Given the description of an element on the screen output the (x, y) to click on. 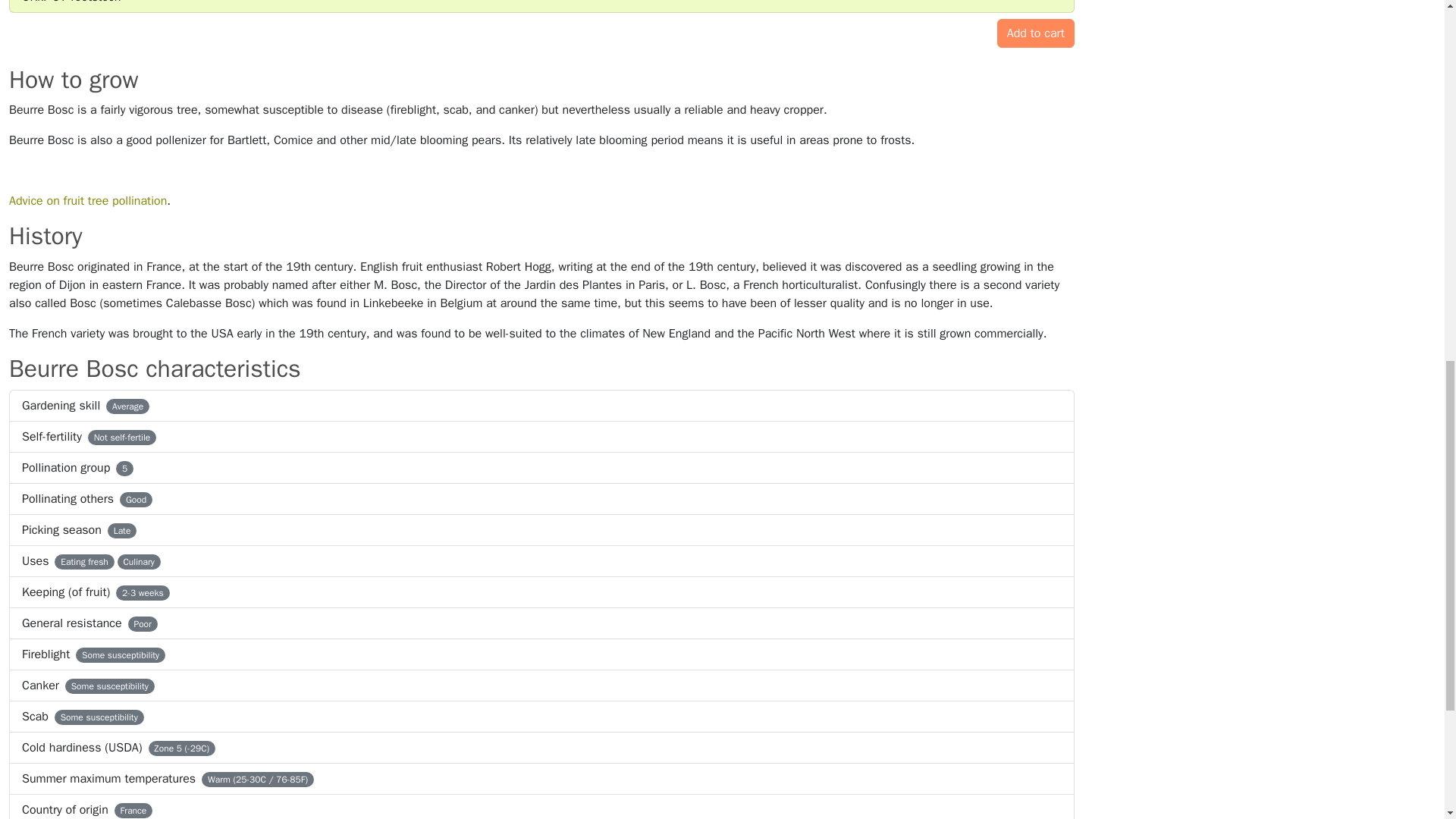
Add to cart (1035, 32)
Add to cart (1035, 32)
Advice on fruit tree pollination (87, 200)
